Given the description of an element on the screen output the (x, y) to click on. 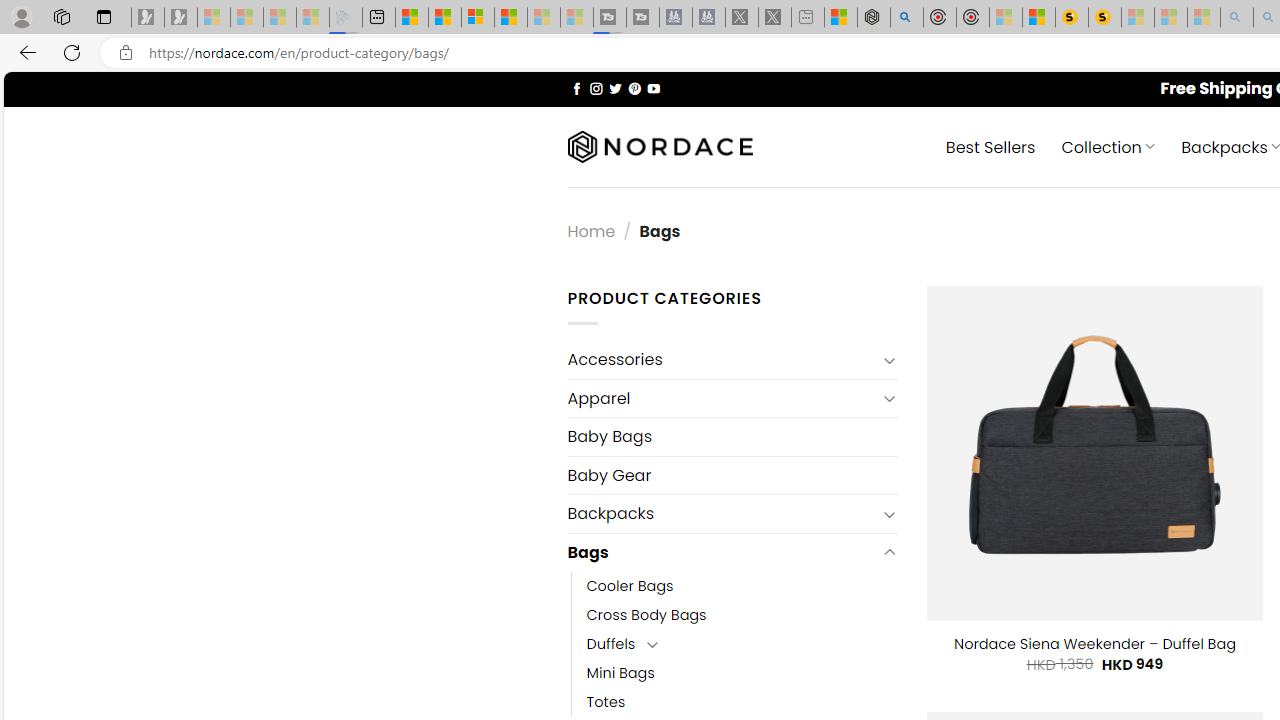
 Best Sellers (989, 146)
Totes (742, 701)
Duffels (611, 643)
amazon - Search - Sleeping (1237, 17)
Baby Bags (732, 435)
Backpacks (721, 514)
Baby Bags (732, 436)
Mini Bags (620, 673)
